Given the description of an element on the screen output the (x, y) to click on. 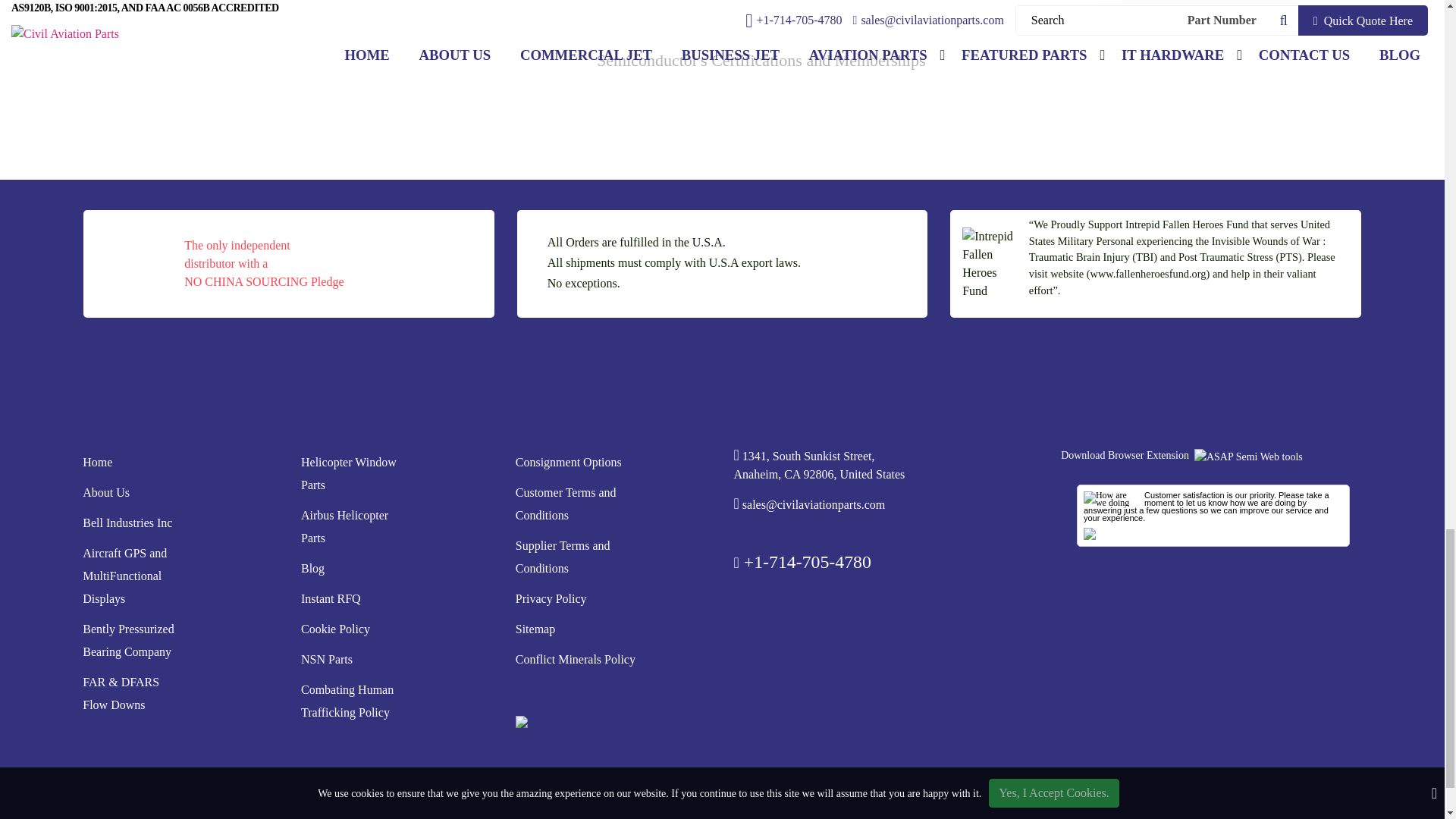
Copyright content (722, 782)
